Given the description of an element on the screen output the (x, y) to click on. 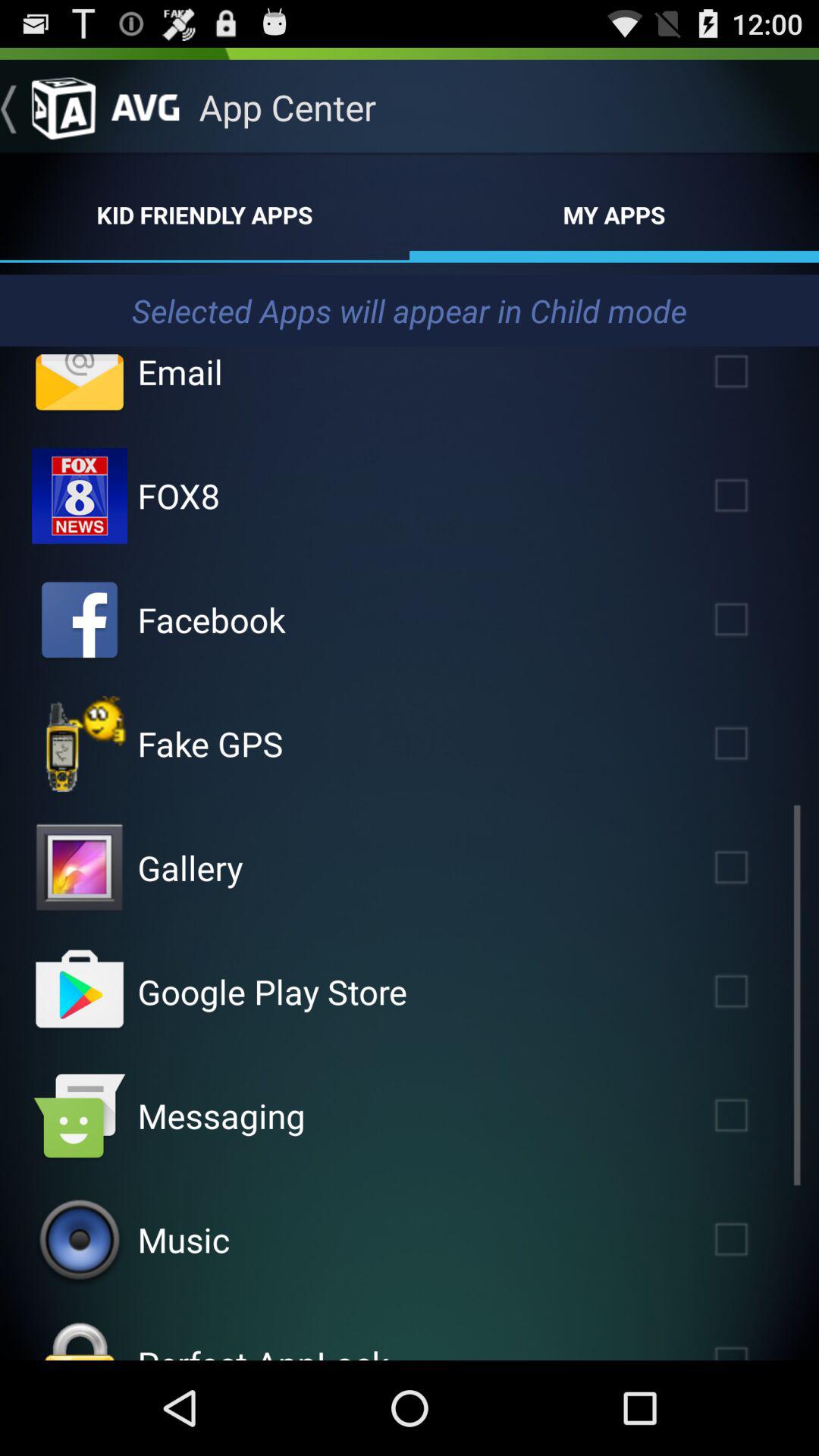
select for messaging (753, 1115)
